Given the description of an element on the screen output the (x, y) to click on. 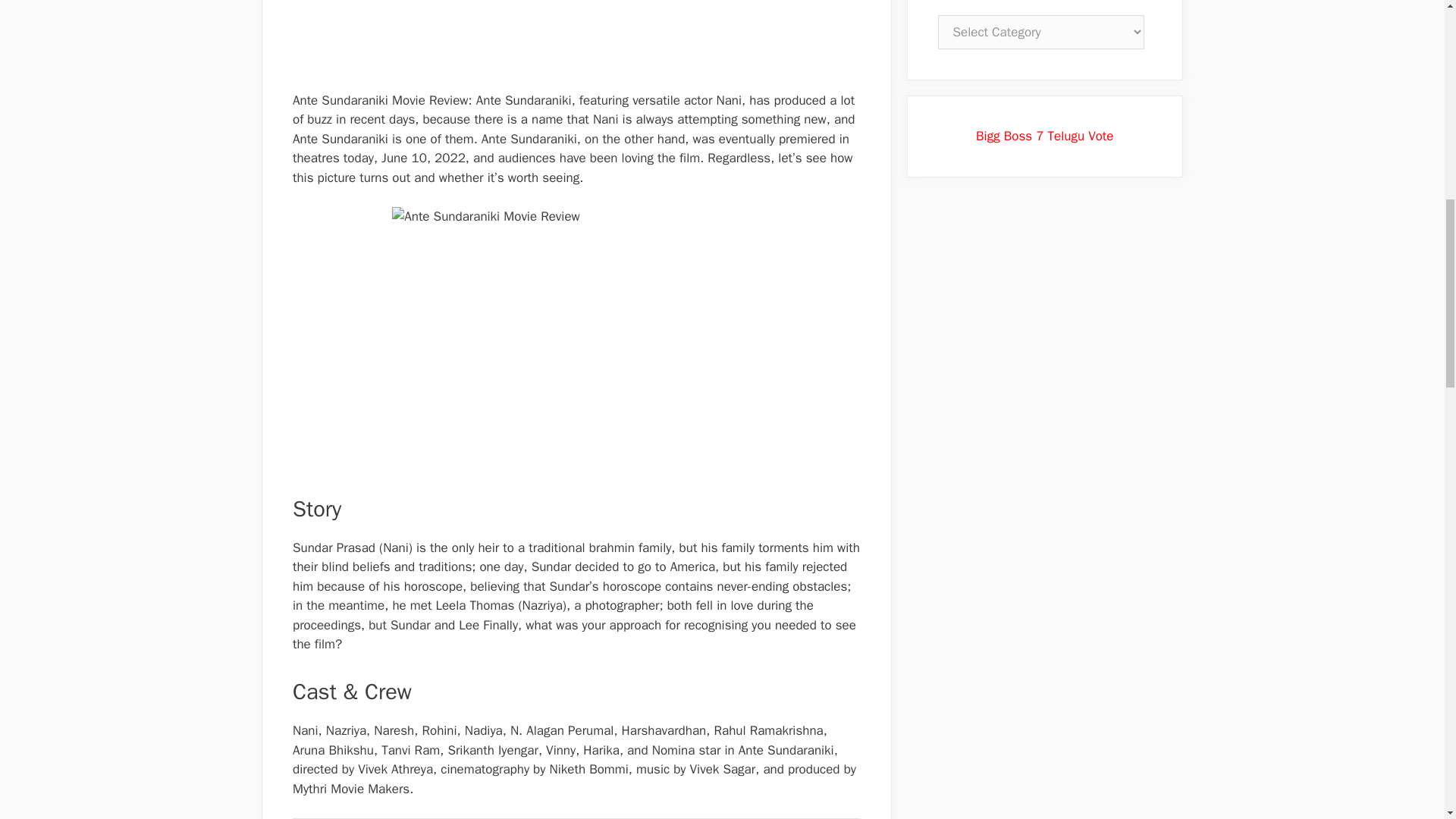
Advertisement (576, 42)
